Given the description of an element on the screen output the (x, y) to click on. 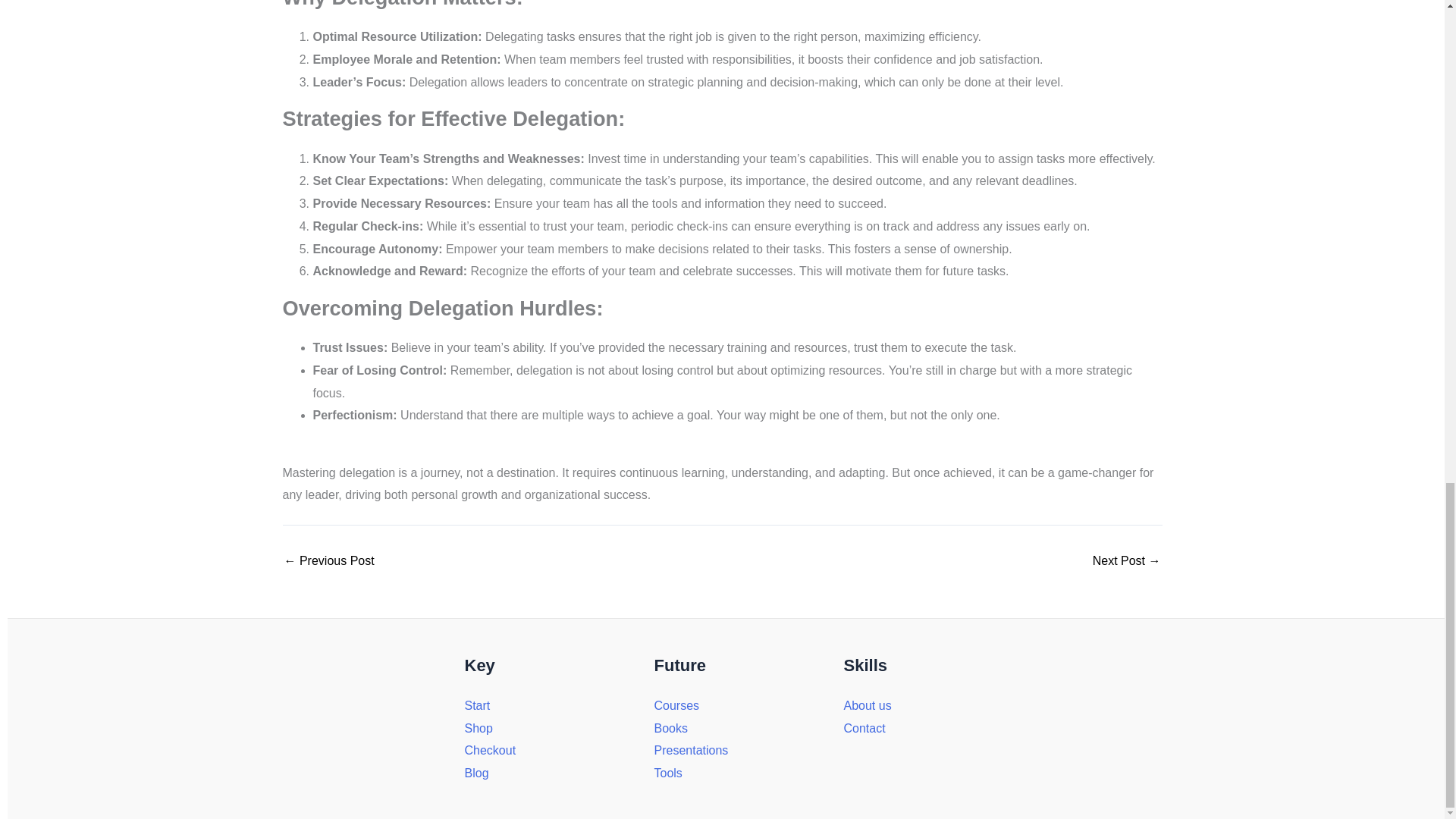
Books (670, 727)
Tools (667, 772)
Presentations (690, 749)
Contact (864, 727)
Courses (675, 705)
Blog (475, 772)
What is Empowered Leadership? (328, 561)
About us (867, 705)
Checkout (489, 749)
